Given the description of an element on the screen output the (x, y) to click on. 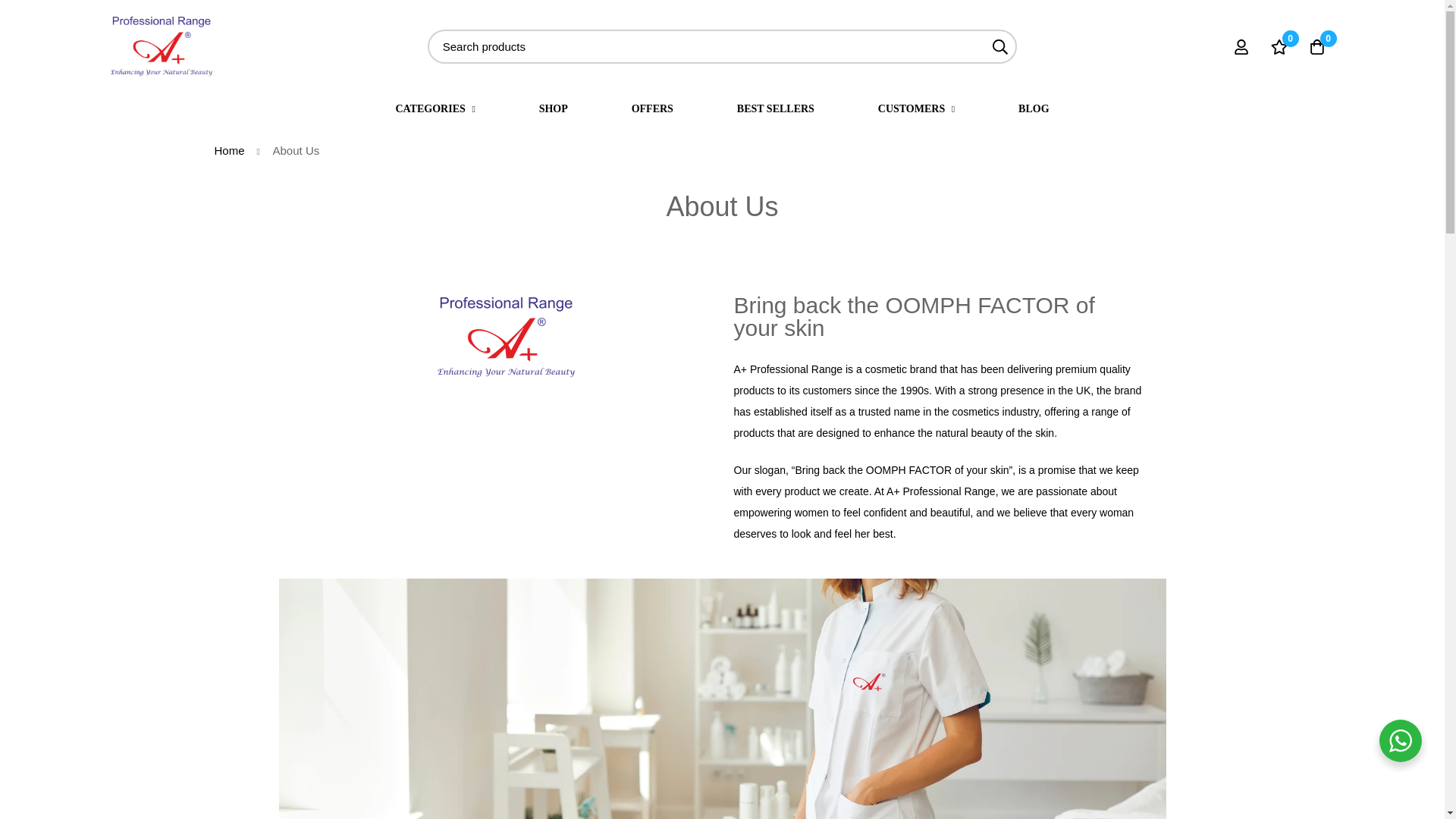
0 (1317, 45)
0 (1279, 45)
Search for: (722, 46)
CATEGORIES (435, 108)
